Given the description of an element on the screen output the (x, y) to click on. 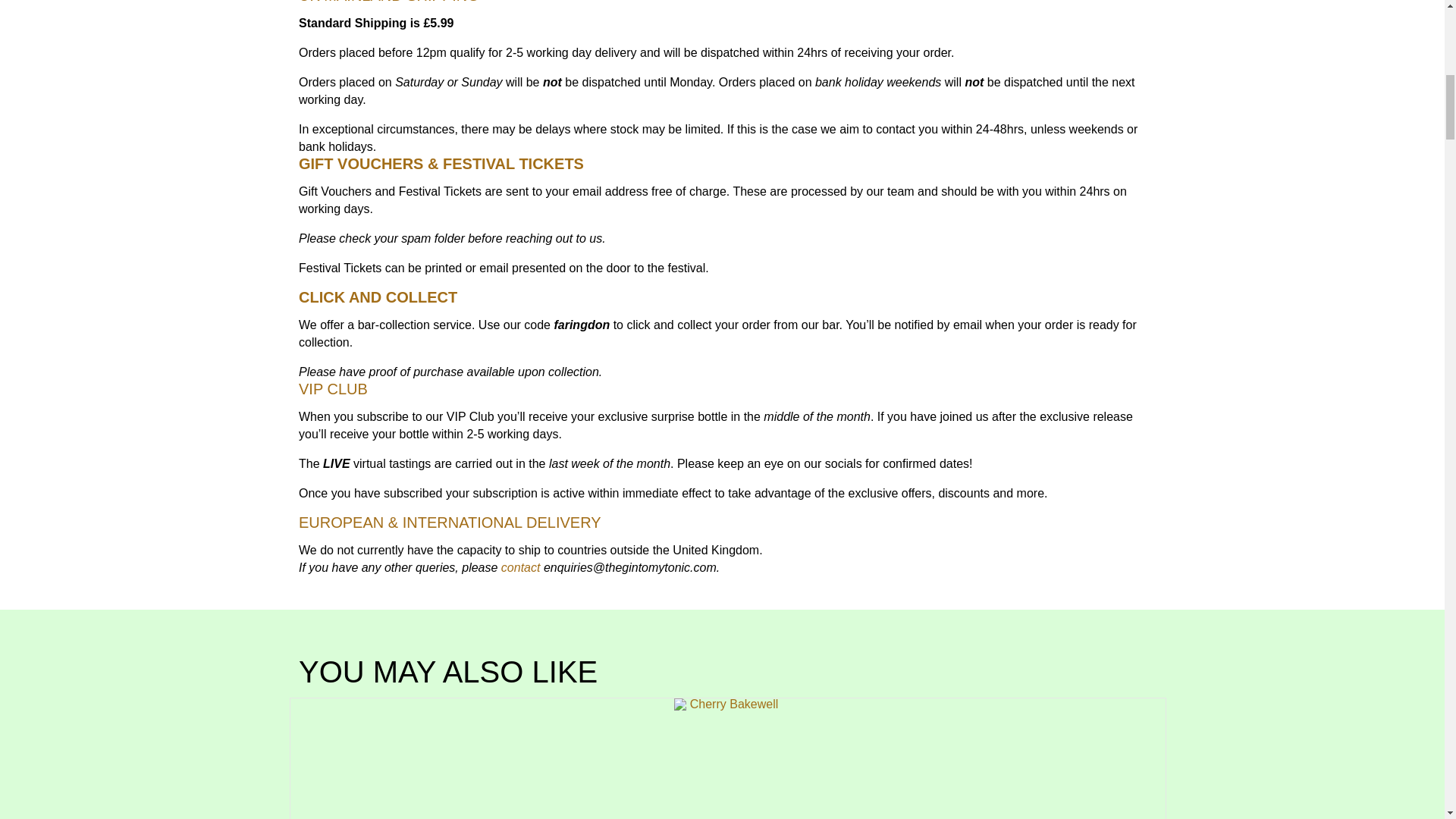
contact (520, 567)
